Given the description of an element on the screen output the (x, y) to click on. 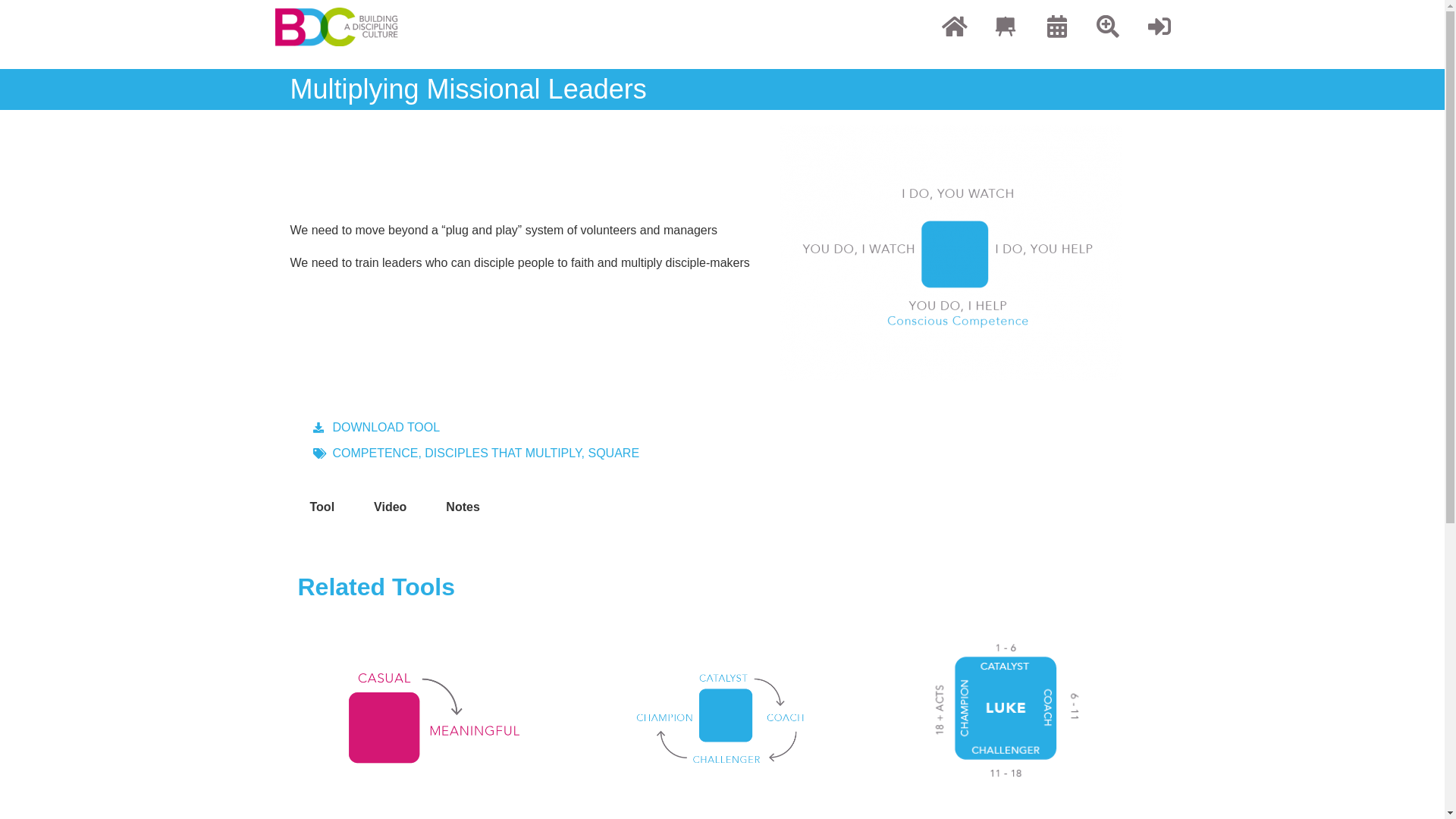
DISCIPLES THAT MULTIPLY Element type: text (502, 452)
SQUARE Element type: text (613, 452)
COMPETENCE Element type: text (374, 452)
DOWNLOAD TOOL Element type: text (375, 427)
BDC Multiplying MIssional Leaders Element type: hover (950, 252)
logo_bdc Element type: hover (336, 26)
